Given the description of an element on the screen output the (x, y) to click on. 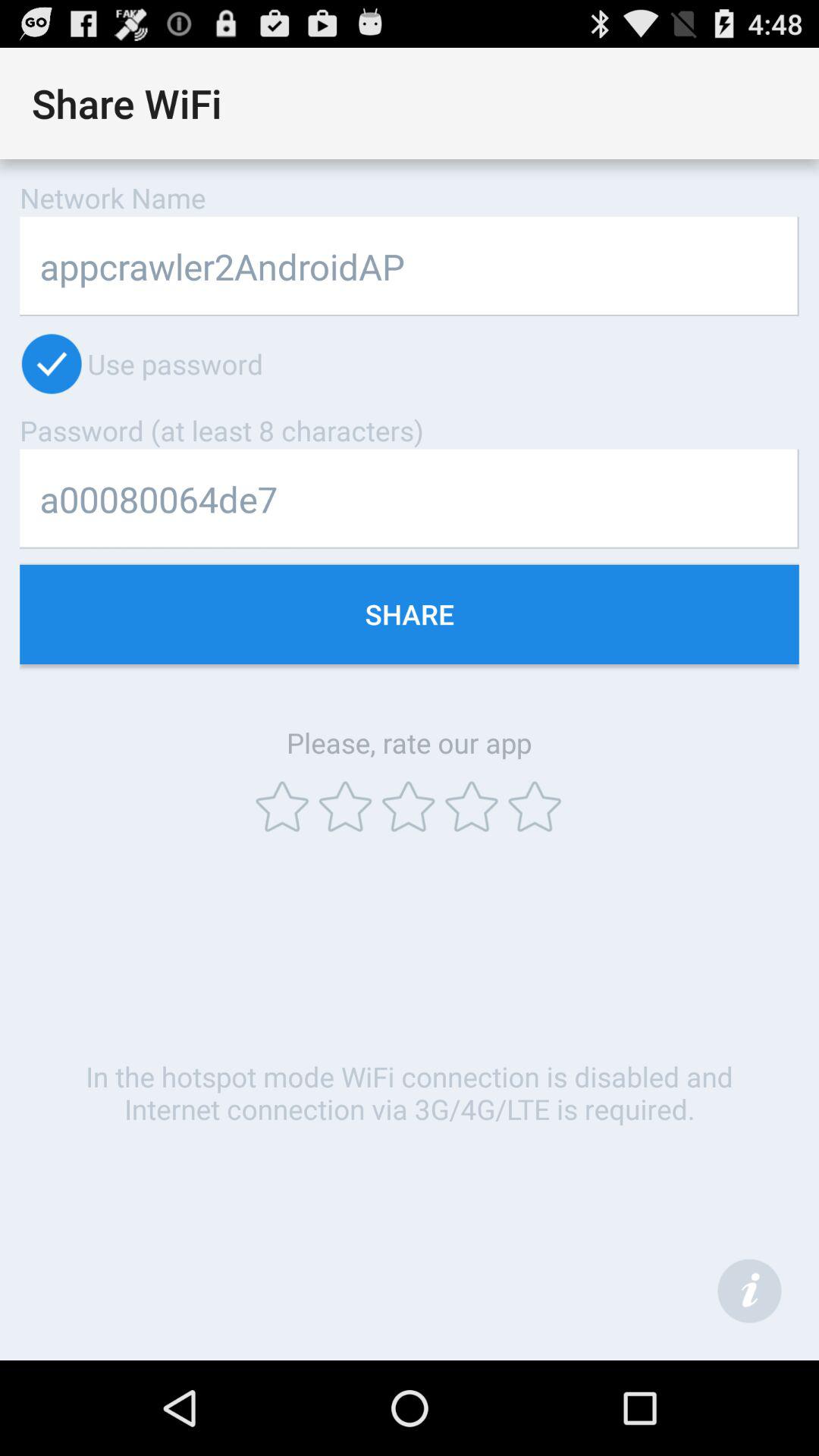
open the icon below password at least item (409, 498)
